Given the description of an element on the screen output the (x, y) to click on. 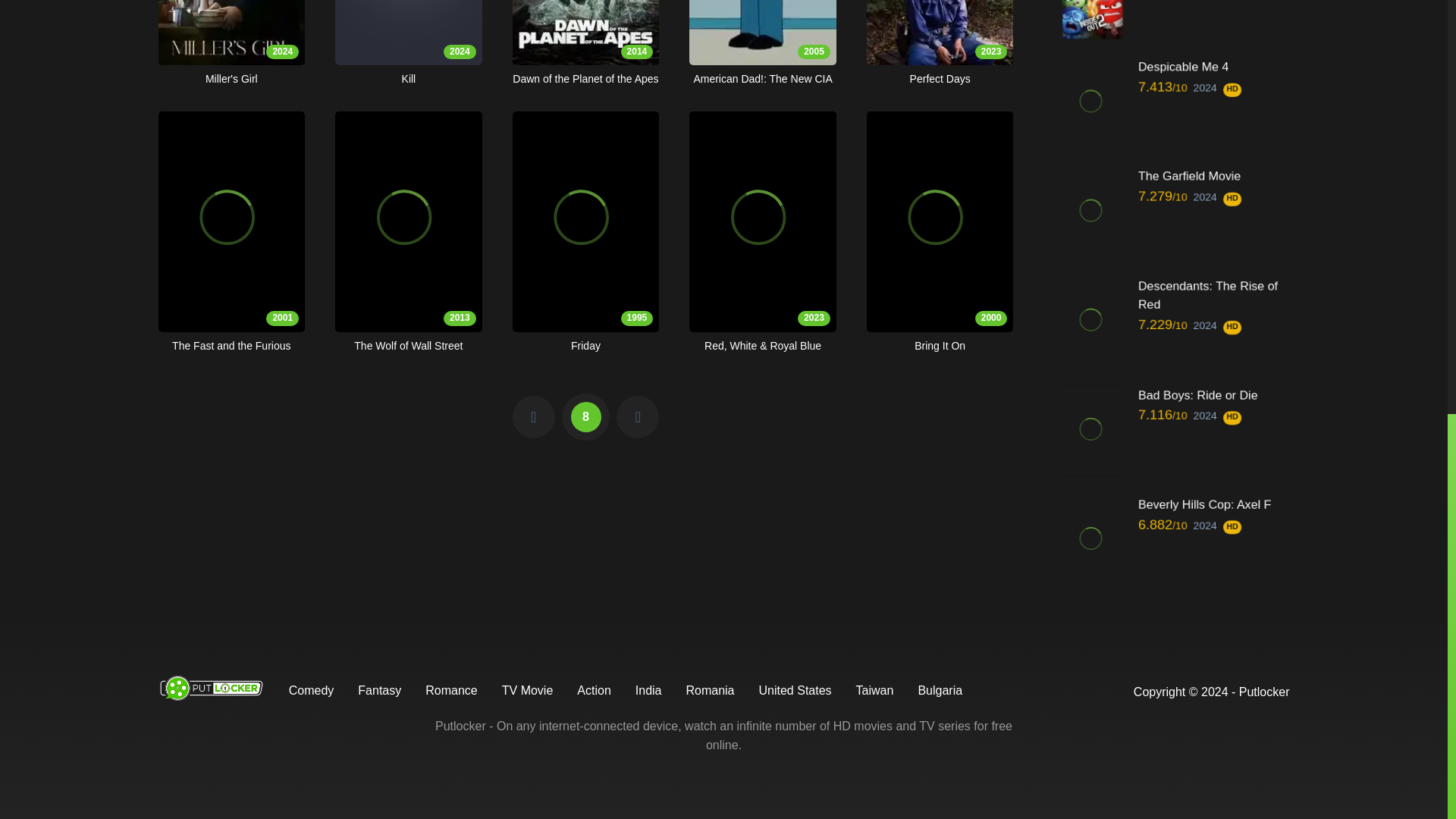
8 (407, 43)
